Given the description of an element on the screen output the (x, y) to click on. 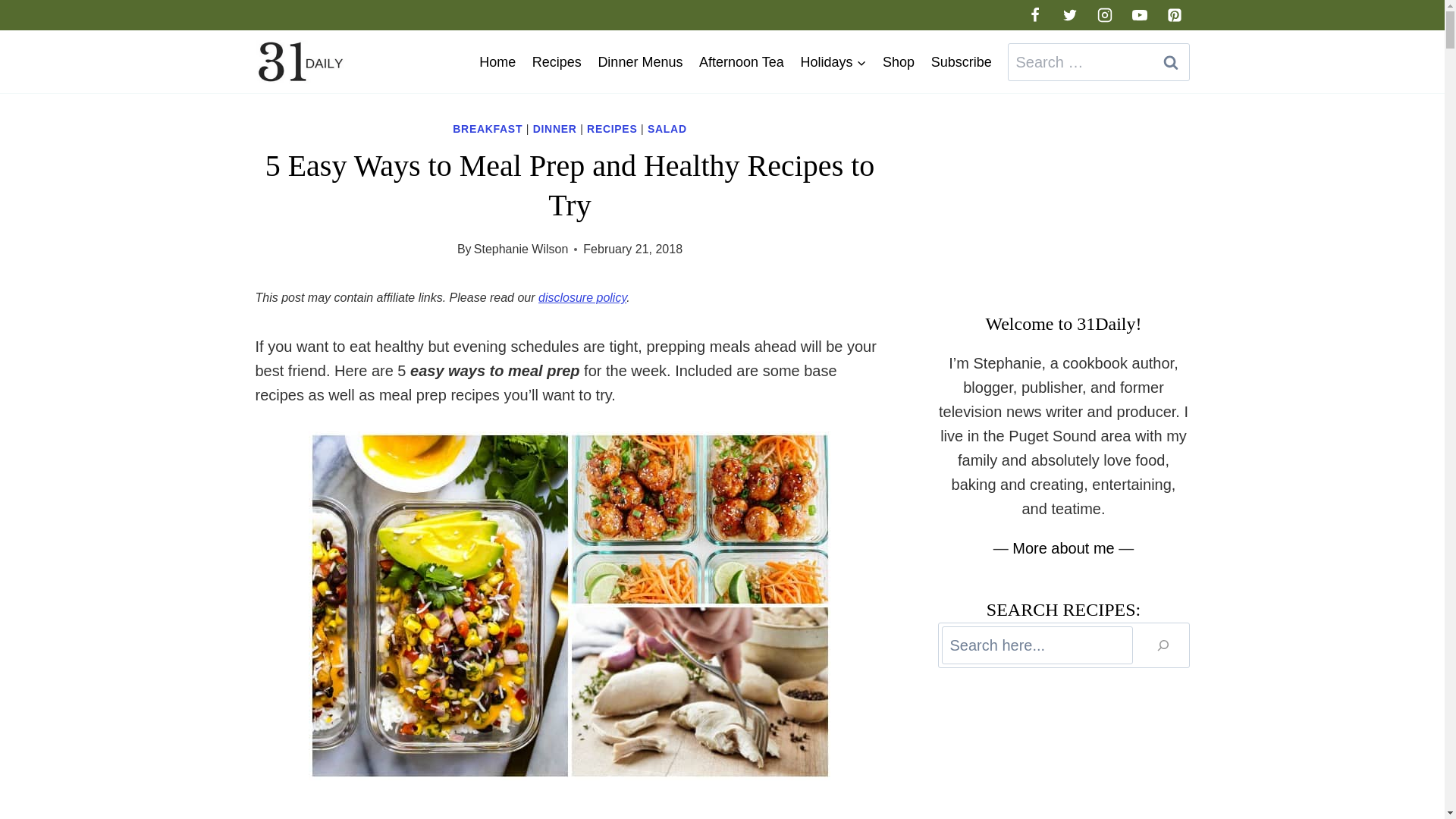
disclosure policy (582, 297)
Dinner Menus (640, 61)
RECIPES (611, 128)
Afternoon Tea (741, 61)
BREAKFAST (487, 128)
Home (497, 61)
Shop (899, 61)
SALAD (667, 128)
DINNER (554, 128)
Recipes (556, 61)
